Given the description of an element on the screen output the (x, y) to click on. 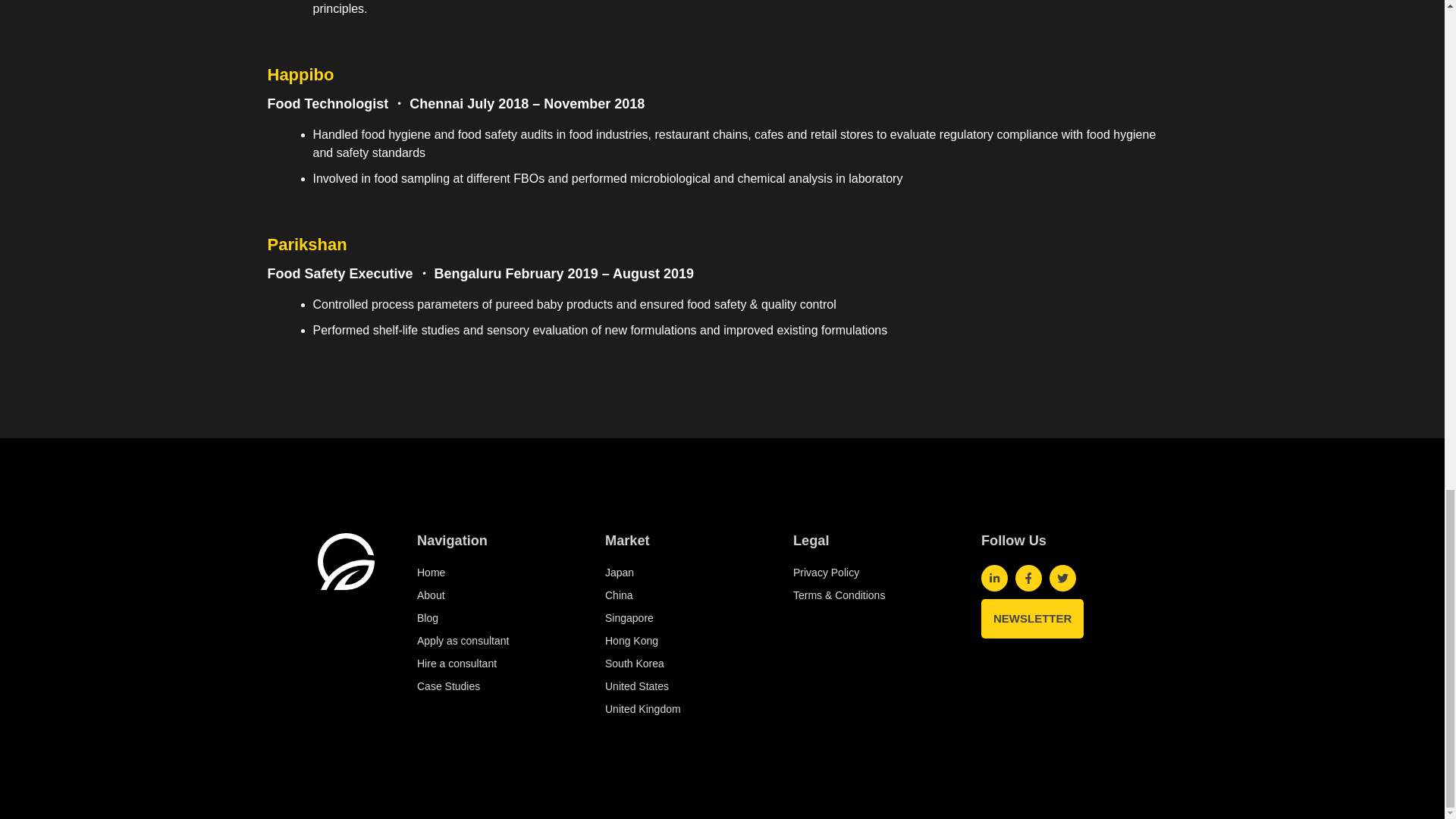
United Kingdom (678, 708)
South Korea (678, 663)
Case Studies (489, 685)
China (678, 595)
Hong Kong (678, 640)
Privacy Policy (866, 572)
Hire a consultant (489, 663)
Singapore (678, 617)
Japan (678, 572)
Apply as consultant (489, 640)
Home (489, 572)
Blog (489, 617)
United States (678, 685)
About (489, 595)
